Given the description of an element on the screen output the (x, y) to click on. 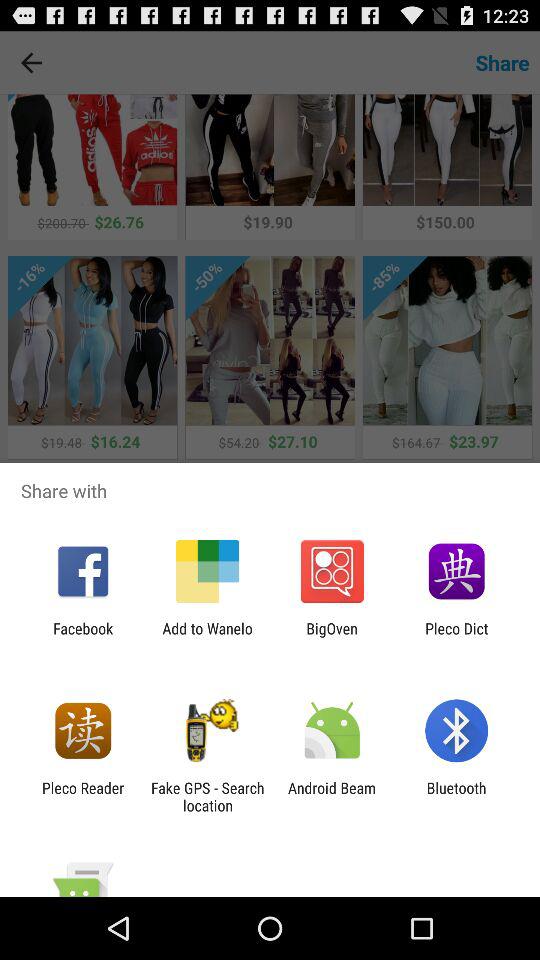
turn on the app to the left of pleco dict app (331, 637)
